Given the description of an element on the screen output the (x, y) to click on. 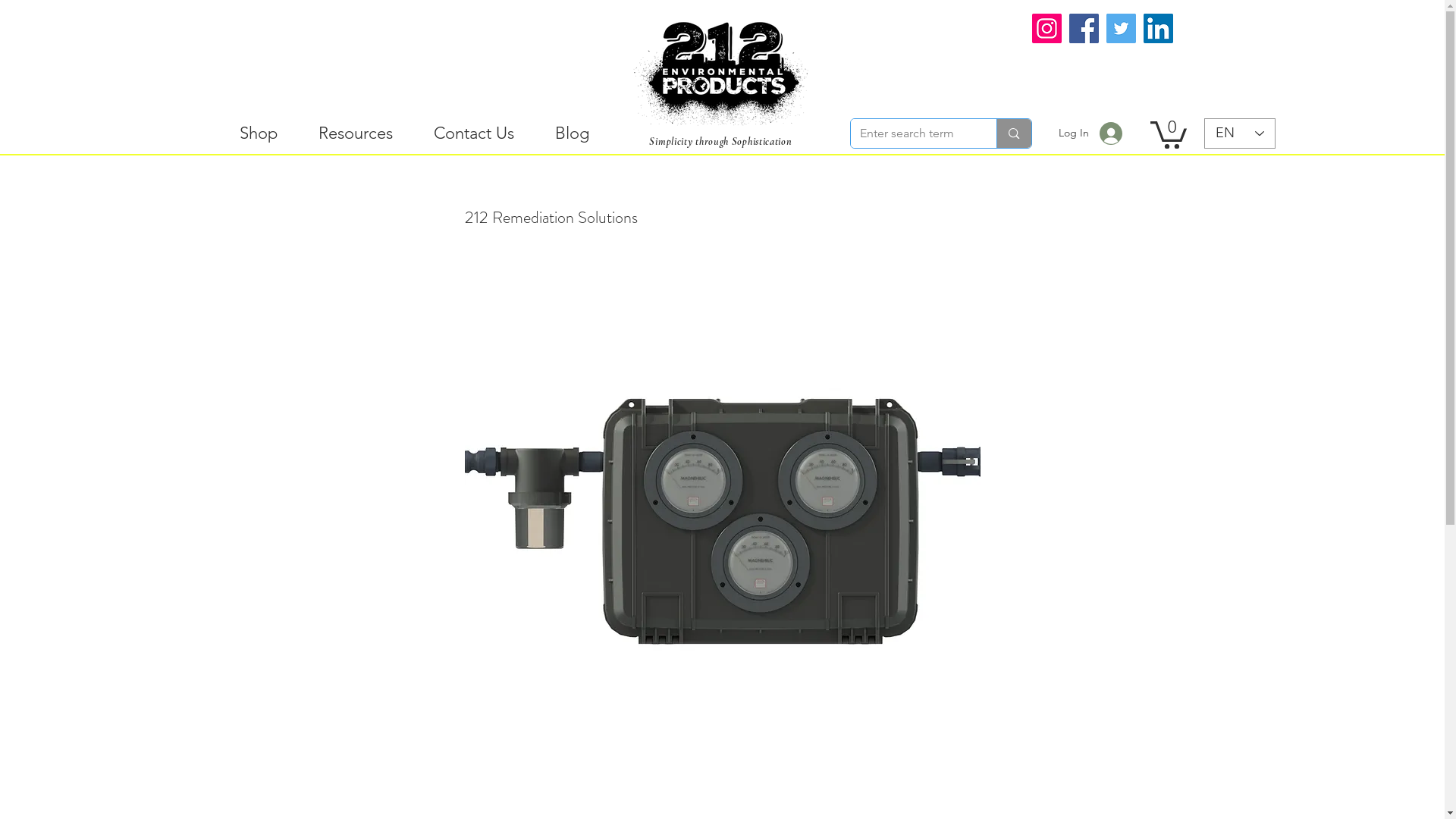
Contact Us Element type: text (472, 133)
212 Remediation Solutions Element type: hover (721, 521)
Log In Element type: text (1090, 133)
Shop Element type: text (257, 133)
Blog Element type: text (570, 133)
0 Element type: text (1167, 133)
